Given the description of an element on the screen output the (x, y) to click on. 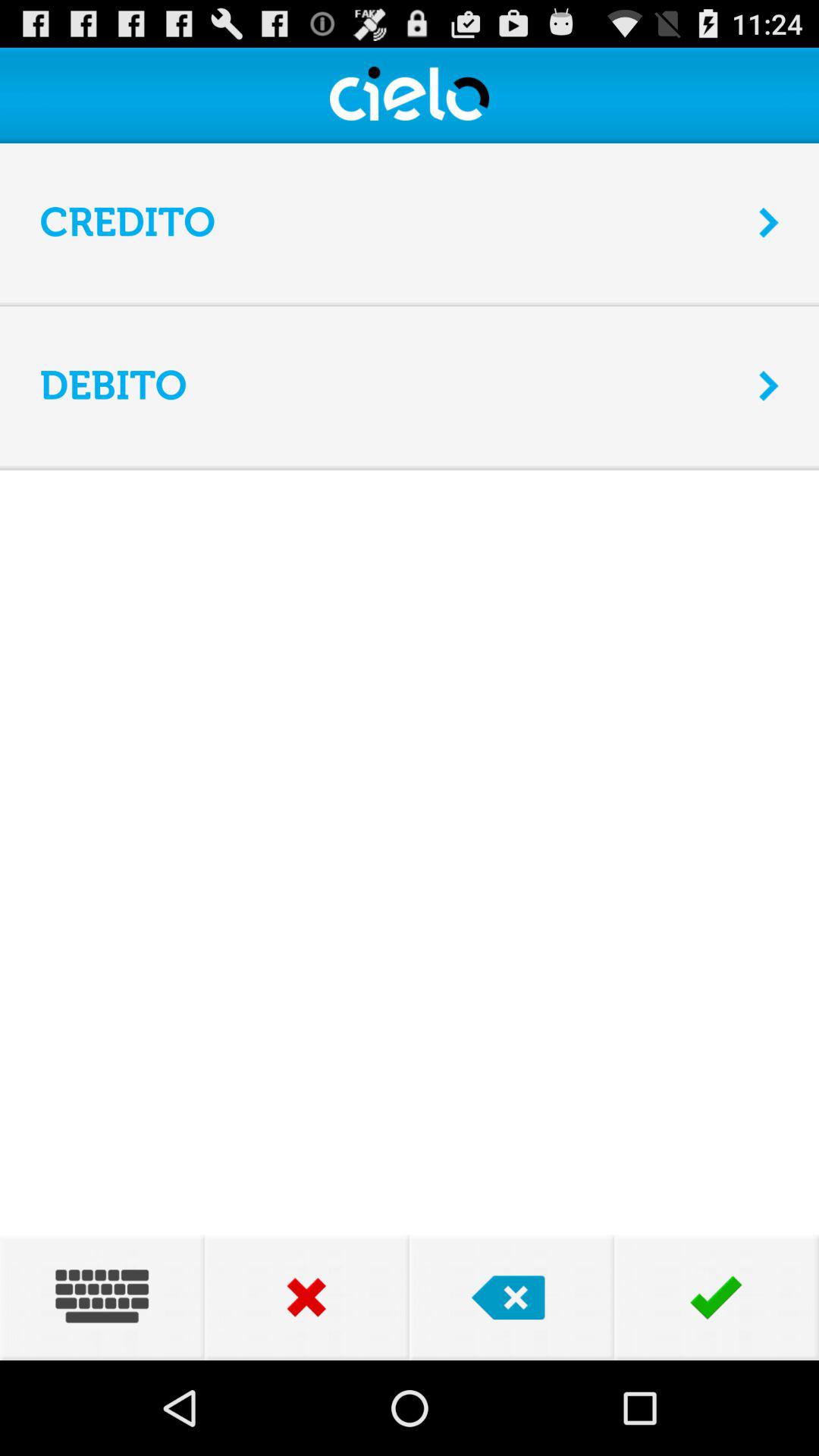
press the icon to the right of the debito app (769, 385)
